Given the description of an element on the screen output the (x, y) to click on. 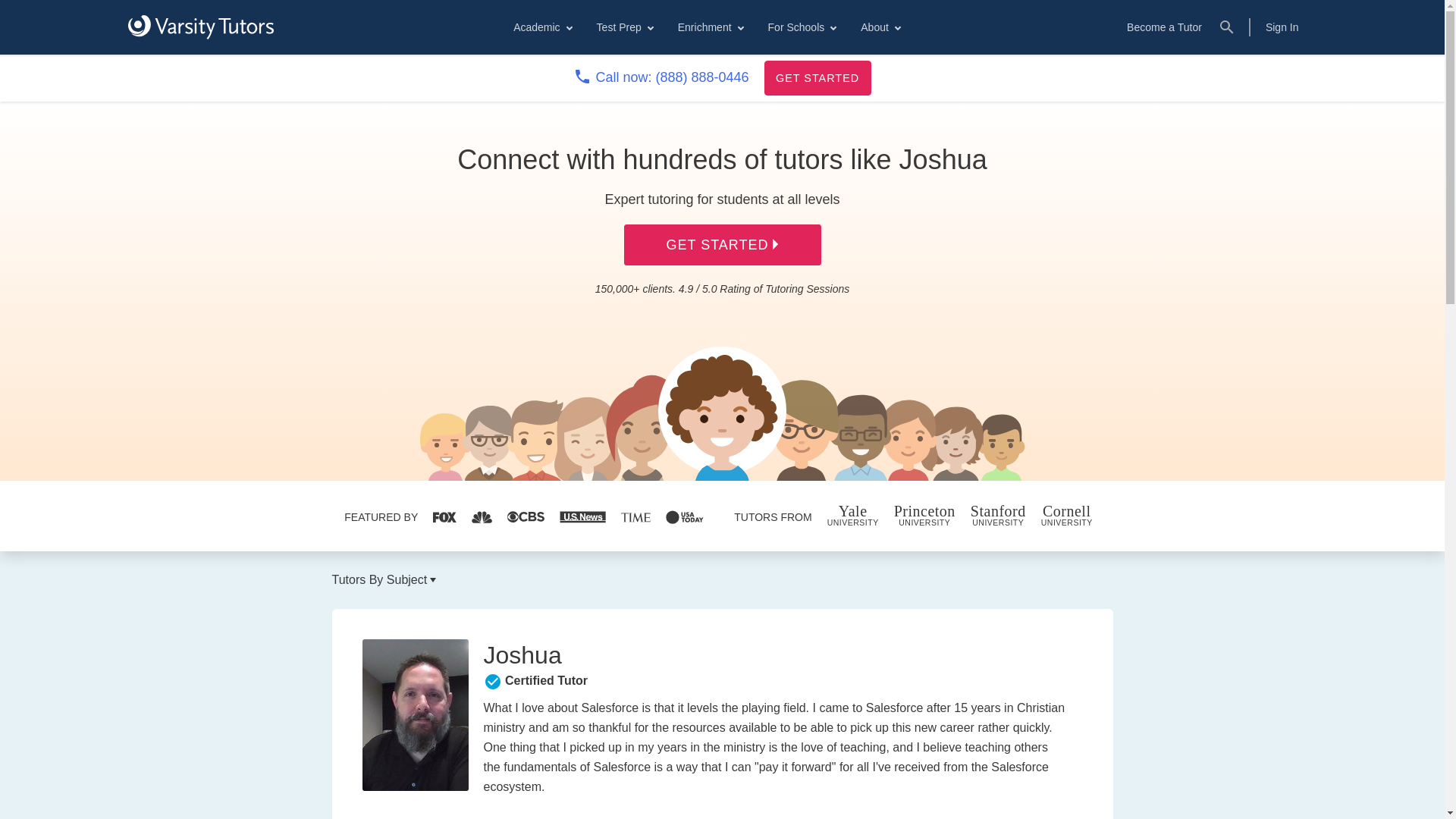
Varsity Tutors (200, 26)
Varsity Tutors (200, 27)
Academic (541, 27)
GET STARTED (817, 77)
